Given the description of an element on the screen output the (x, y) to click on. 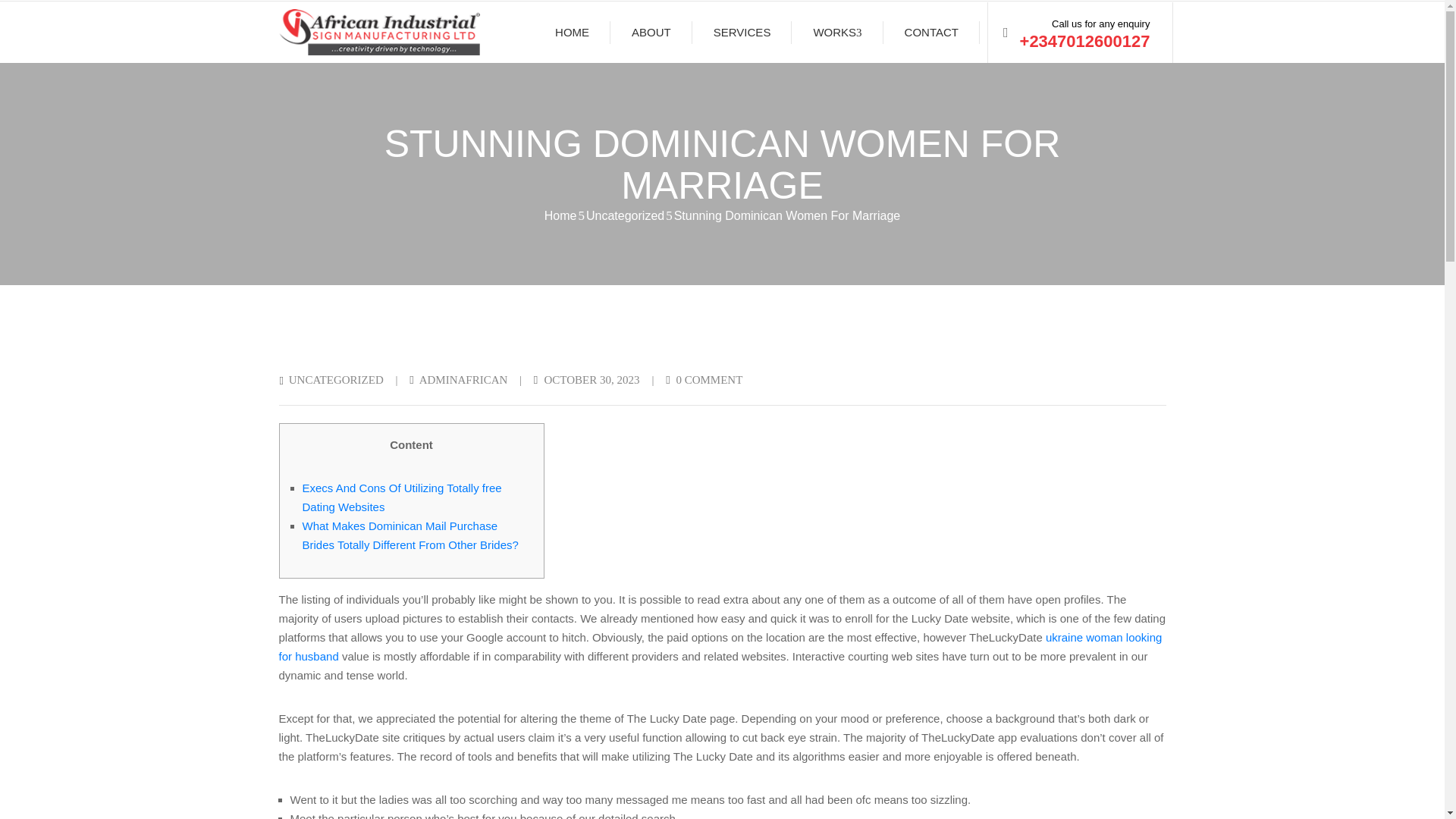
ukraine woman looking for husband (720, 646)
ADMINAFRICAN (463, 379)
SERVICES (741, 32)
WORKS (836, 32)
ABOUT (651, 32)
Home (560, 215)
Uncategorized (624, 215)
CONTACT (931, 32)
UNCATEGORIZED (336, 379)
Contact (931, 32)
Works (836, 32)
About (651, 32)
Execs And Cons Of Utilizing Totally free Dating Websites (400, 497)
HOME (571, 32)
